Given the description of an element on the screen output the (x, y) to click on. 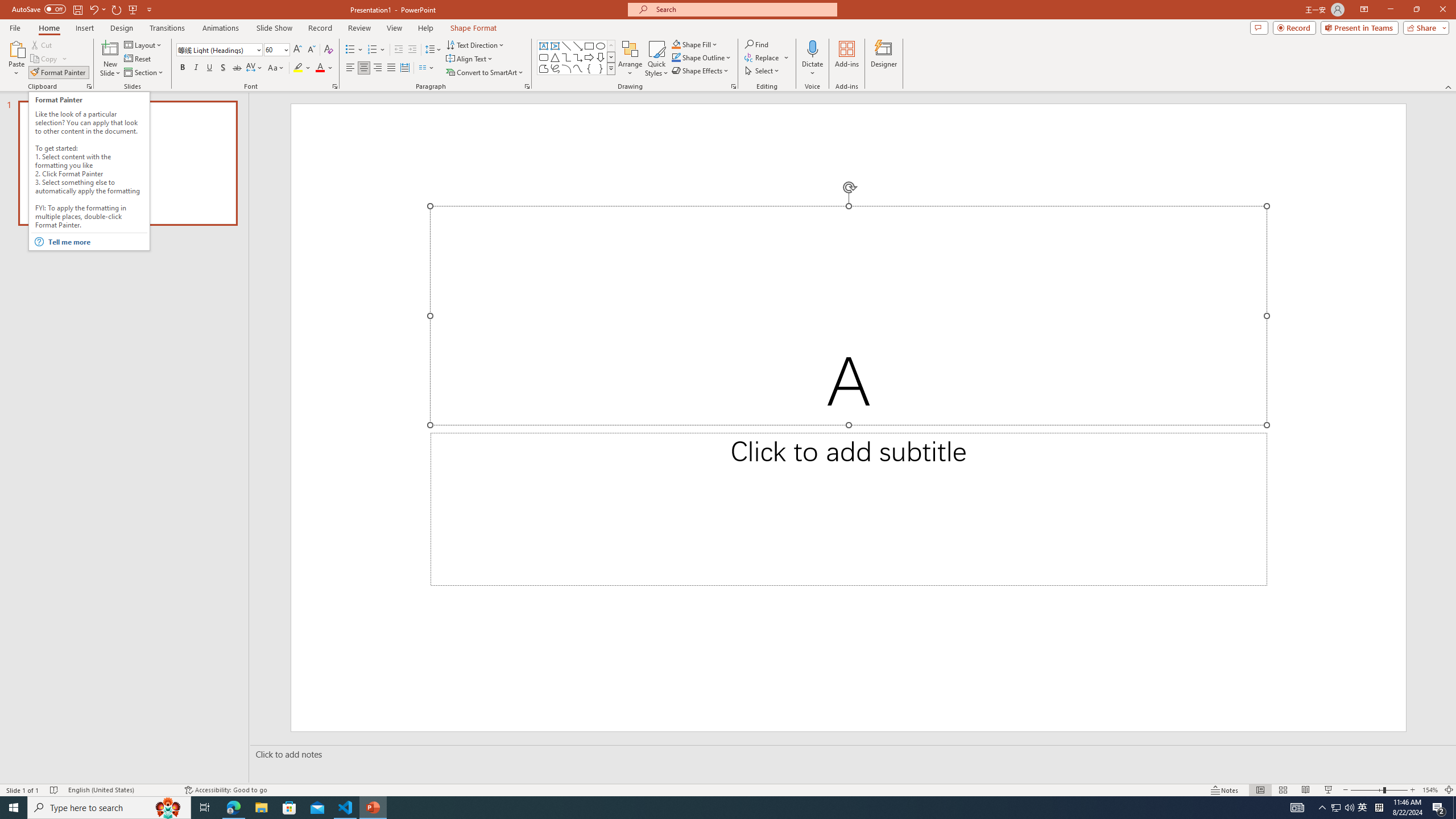
AutomationID: ShapesInsertGallery (576, 57)
Notes  (1225, 790)
Convert to SmartArt (485, 72)
Insert (83, 28)
Spell Check No Errors (54, 790)
Customize Quick Access Toolbar (149, 9)
Undo (92, 9)
Quick Access Toolbar (82, 9)
Record (320, 28)
Copy (49, 58)
Clear Formatting (327, 49)
Normal (1260, 790)
More Options (812, 68)
Row Down (611, 56)
Microsoft search (742, 9)
